Given the description of an element on the screen output the (x, y) to click on. 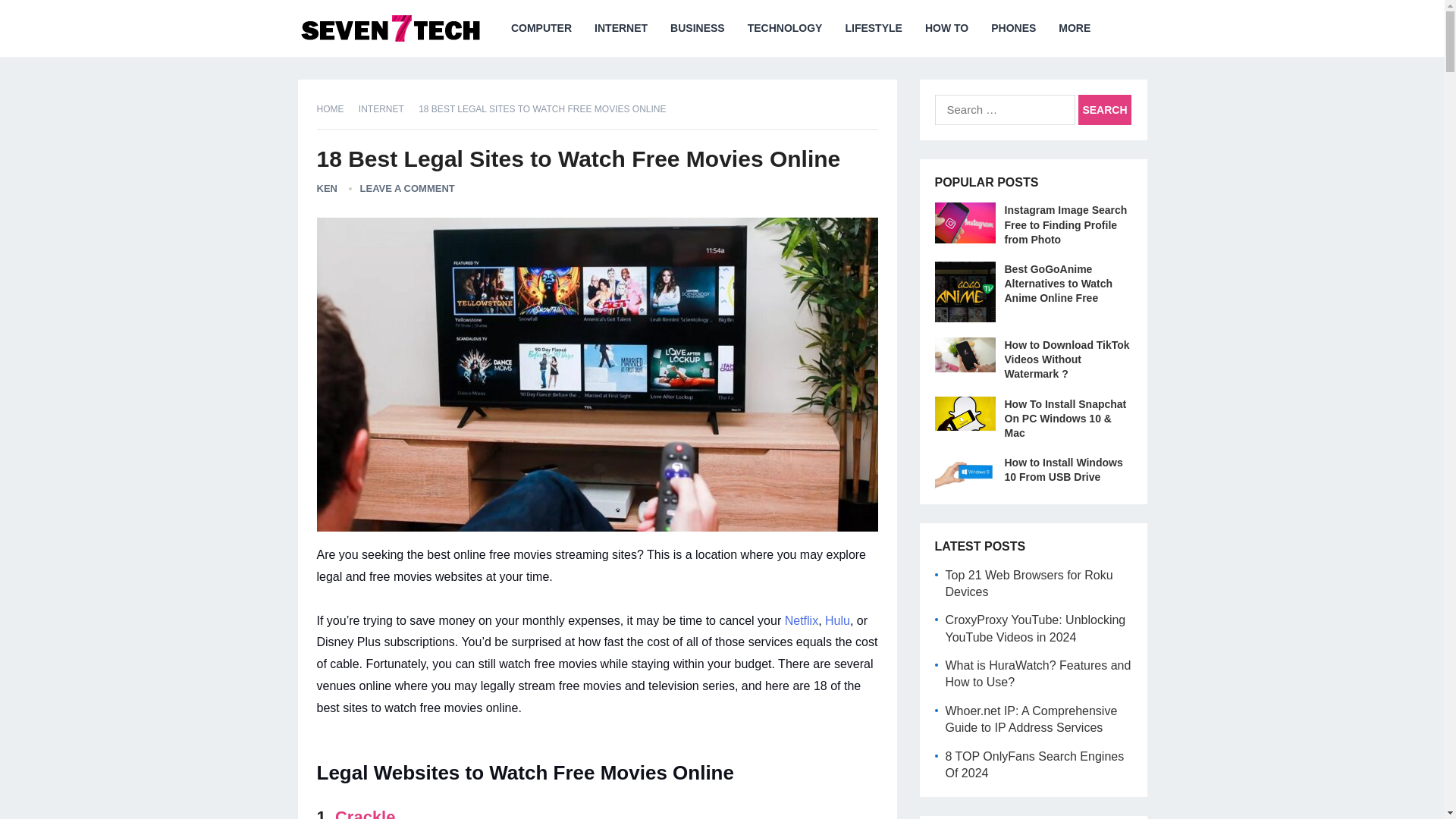
View all posts in Internet (386, 109)
LEAVE A COMMENT (406, 188)
LIFESTYLE (872, 28)
COMPUTER (541, 28)
TECHNOLOGY (785, 28)
Netflix (801, 620)
Search (1104, 110)
PHONES (1012, 28)
INTERNET (621, 28)
Search (1104, 110)
